Given the description of an element on the screen output the (x, y) to click on. 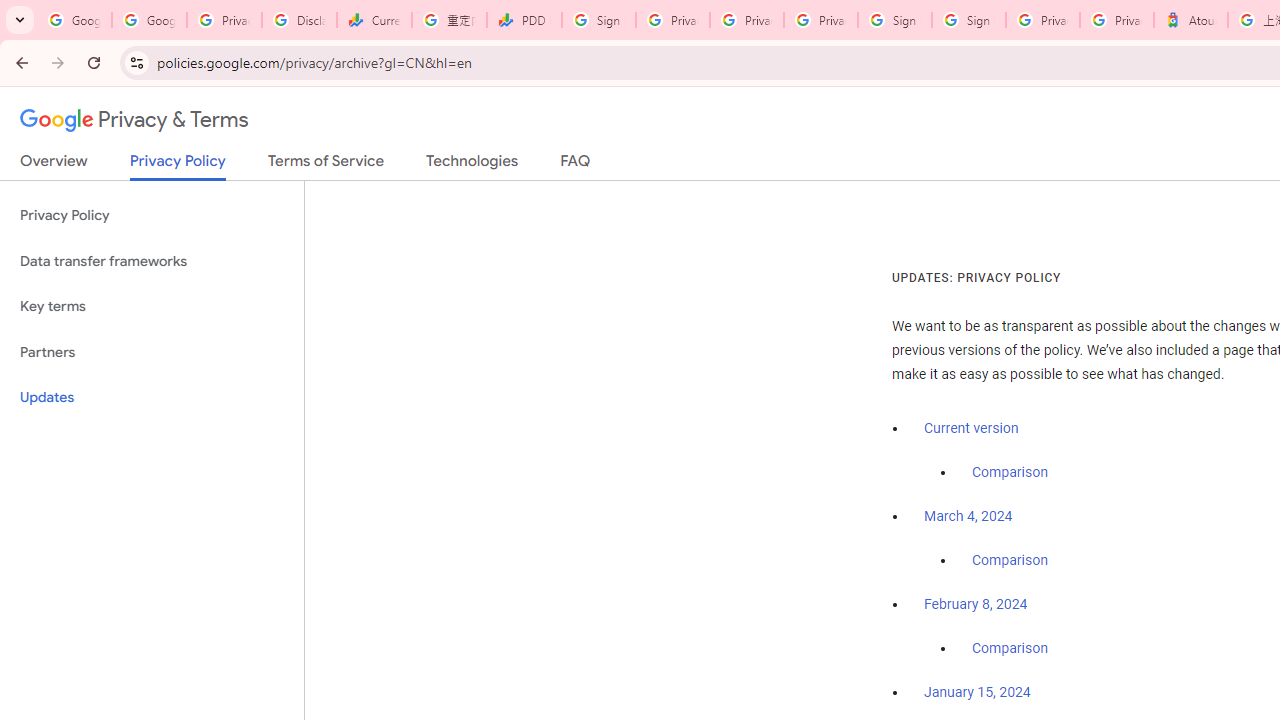
Comparison (1009, 649)
Sign in - Google Accounts (894, 20)
Currencies - Google Finance (374, 20)
Privacy Checkup (820, 20)
